Given the description of an element on the screen output the (x, y) to click on. 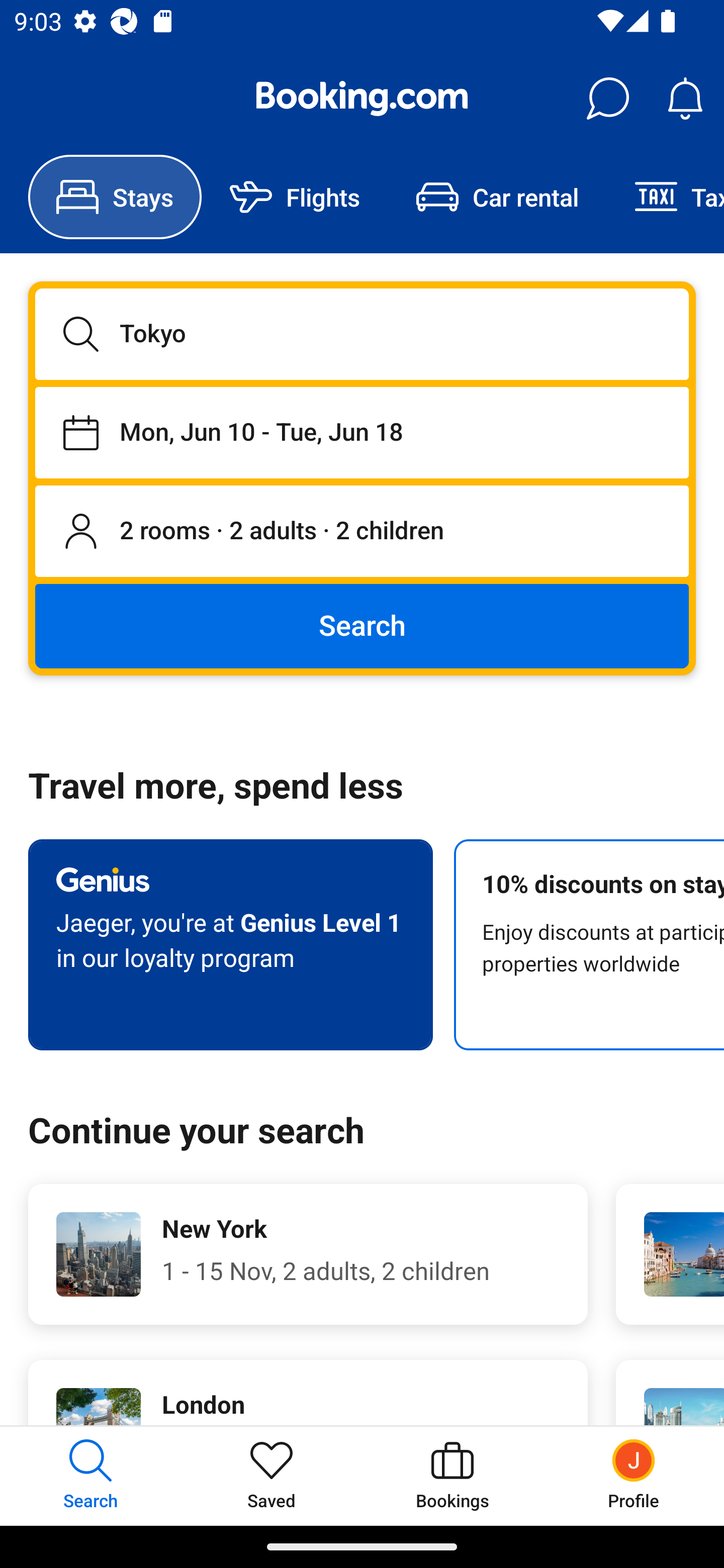
Messages (607, 98)
Notifications (685, 98)
Stays (114, 197)
Flights (294, 197)
Car rental (497, 197)
Taxi (665, 197)
Tokyo (361, 333)
Staying from Mon, Jun 10 until Tue, Jun 18 (361, 432)
2 rooms, 2 adults, 2 children (361, 531)
Search (361, 625)
New York 1 - 15 Nov, 2 adults, 2 children (307, 1253)
Saved (271, 1475)
Bookings (452, 1475)
Profile (633, 1475)
